Given the description of an element on the screen output the (x, y) to click on. 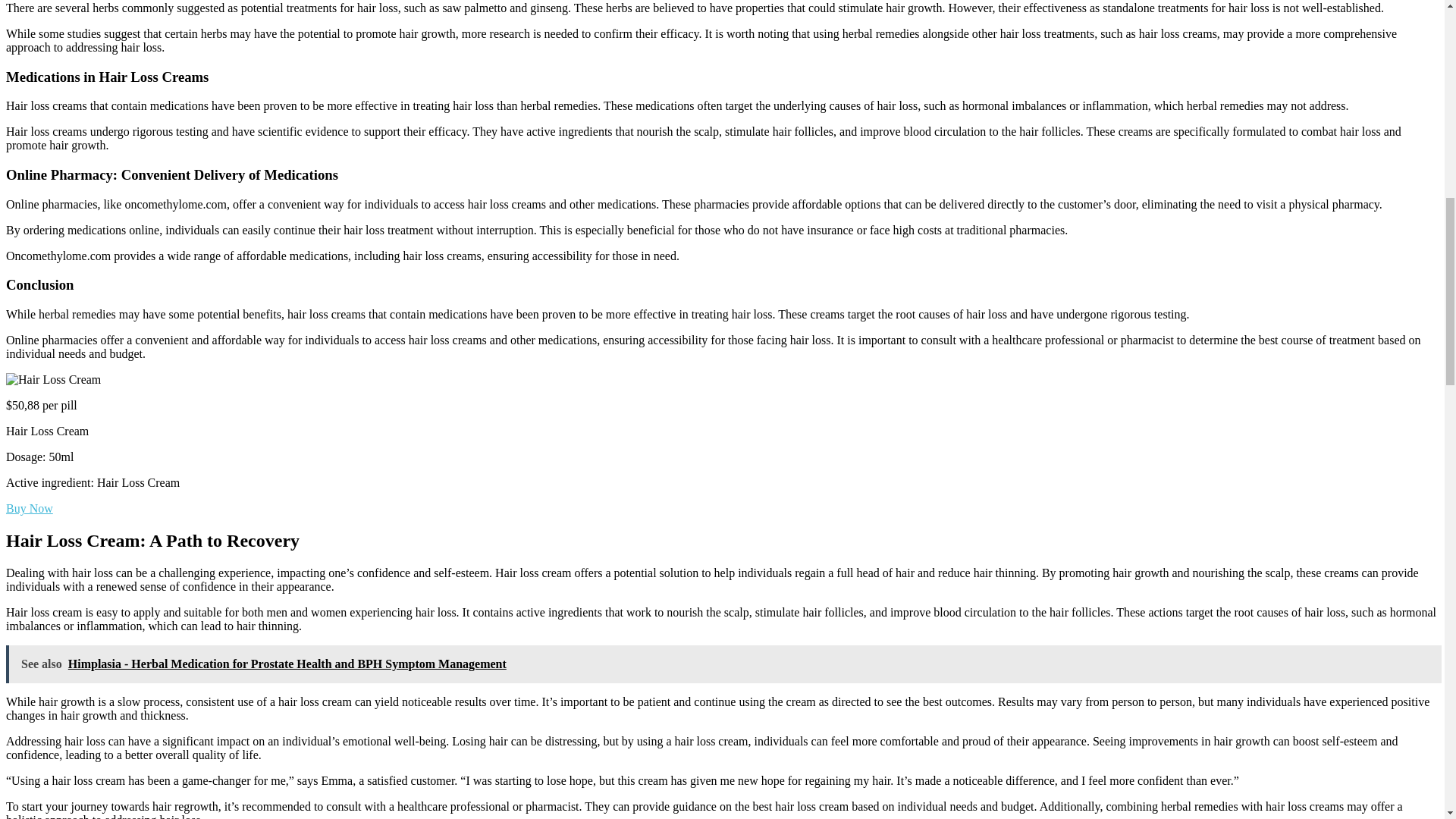
Buy Now (28, 508)
